Given the description of an element on the screen output the (x, y) to click on. 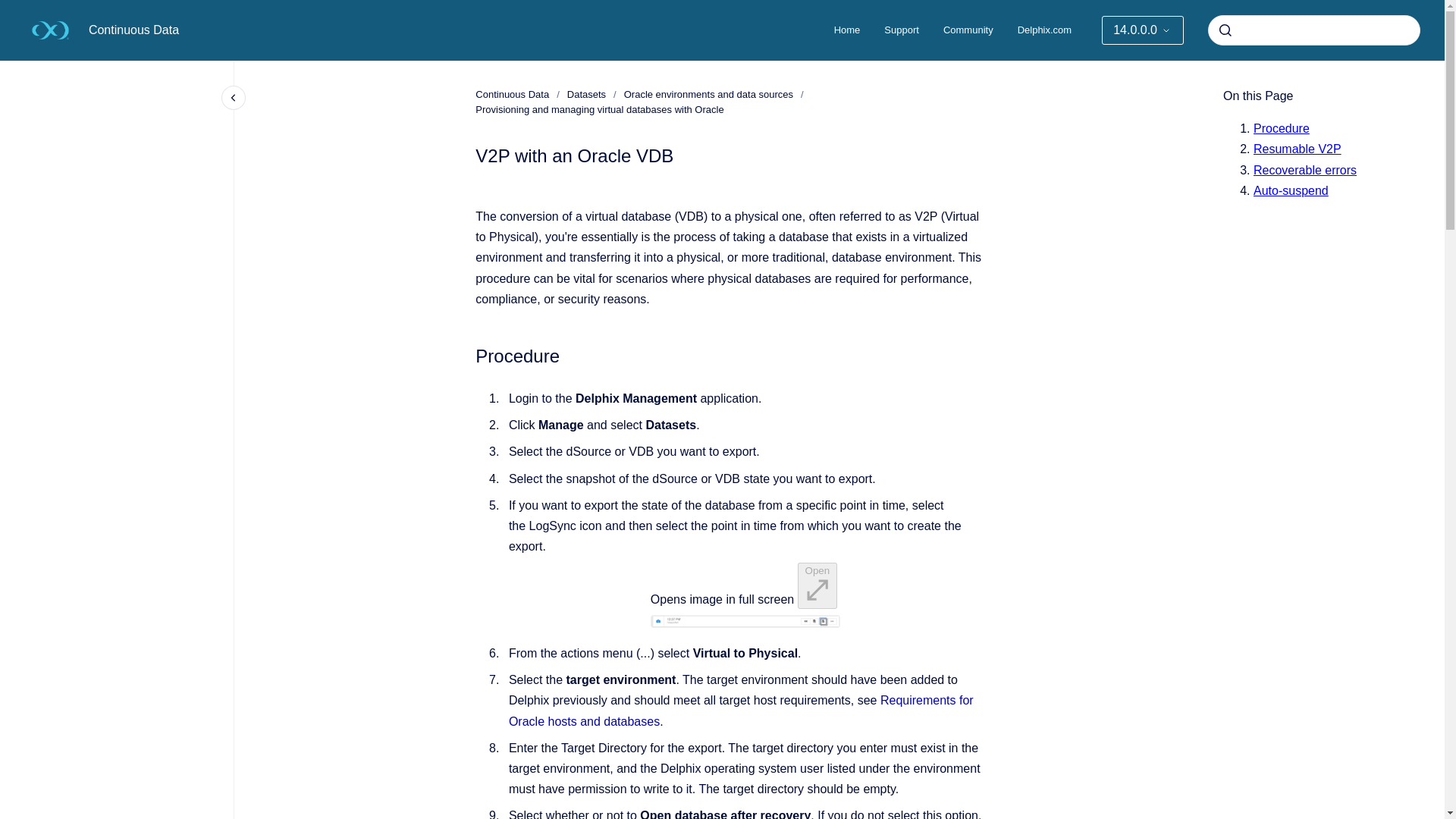
Provisioning and managing virtual databases with Oracle (599, 109)
Continuous Data (133, 29)
14.0.0.0 (1142, 30)
Go to homepage (50, 30)
Continuous Data (512, 94)
Community (968, 29)
Oracle environments and data sources (708, 94)
Requirements for Oracle hosts and databases (741, 710)
Datasets (586, 94)
